Given the description of an element on the screen output the (x, y) to click on. 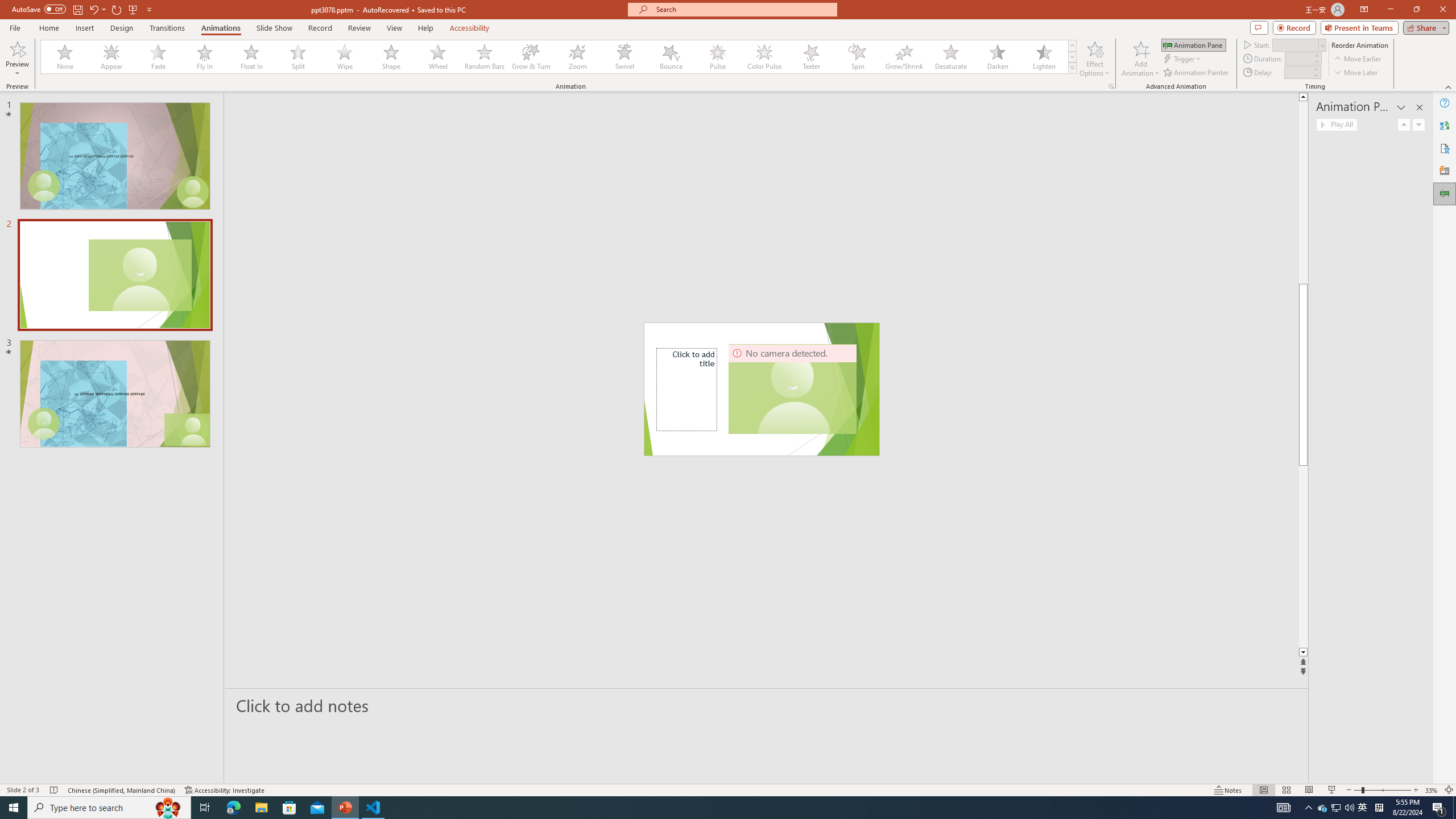
Spin (857, 56)
Animation Pane (1444, 193)
Grow/Shrink (903, 56)
Add Animation (1141, 58)
